Given the description of an element on the screen output the (x, y) to click on. 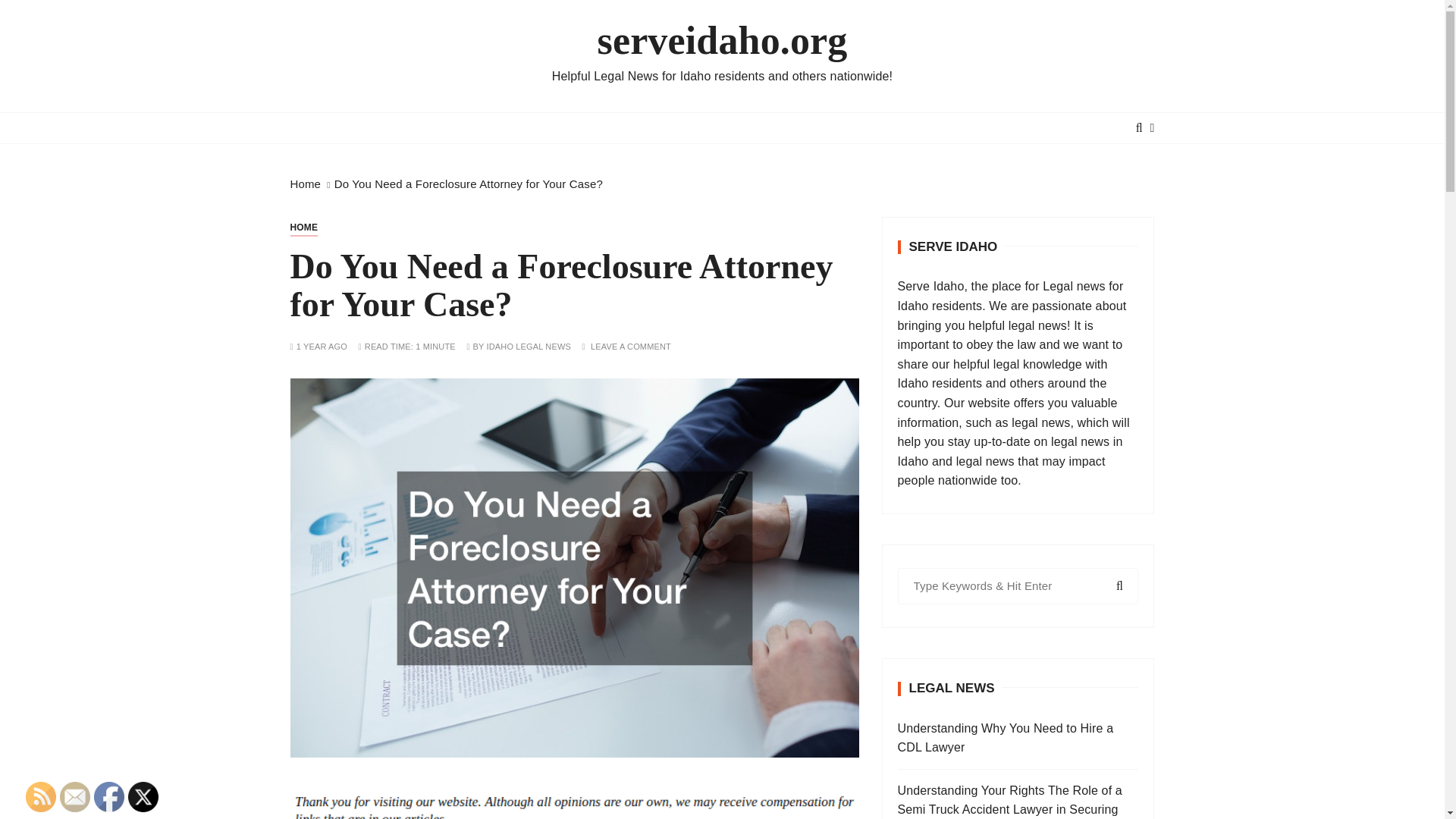
Twitter (143, 797)
Do You Need a Foreclosure Attorney for Your Case? (468, 183)
HOME (303, 227)
Understanding Why You Need to Hire a CDL Lawyer (1018, 738)
IDAHO LEGAL NEWS (528, 347)
serveidaho.org (721, 40)
Follow by Email (74, 797)
RSS (41, 797)
LEAVE A COMMENT (631, 347)
Home (304, 183)
